Given the description of an element on the screen output the (x, y) to click on. 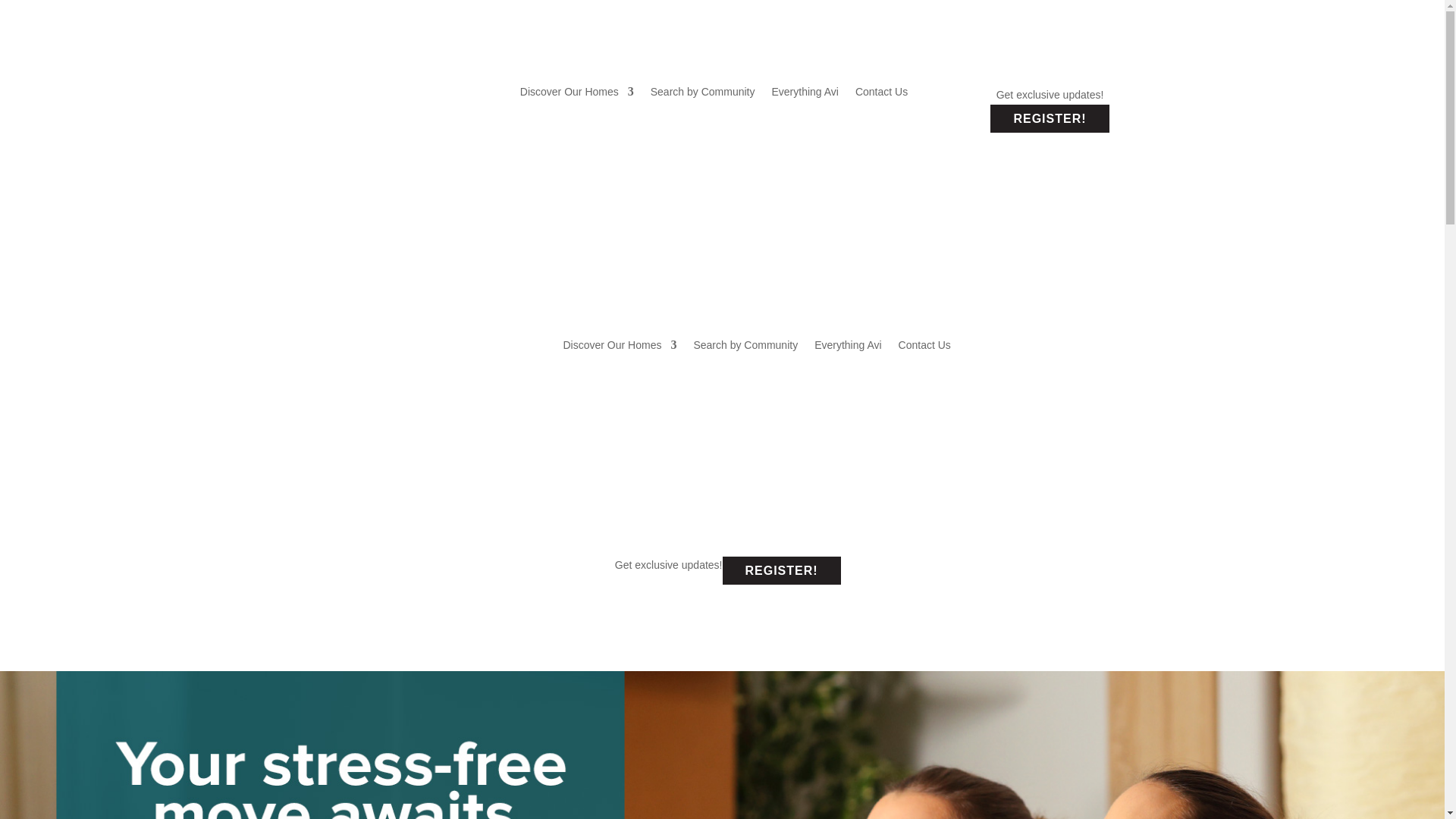
Everything Avi (804, 94)
Discover Our Homes (576, 94)
Search by Community (745, 344)
REGISTER! (1049, 118)
Contact Us (881, 94)
REGISTER! (781, 570)
Search by Community (702, 94)
Discover Our Homes (619, 344)
